Given the description of an element on the screen output the (x, y) to click on. 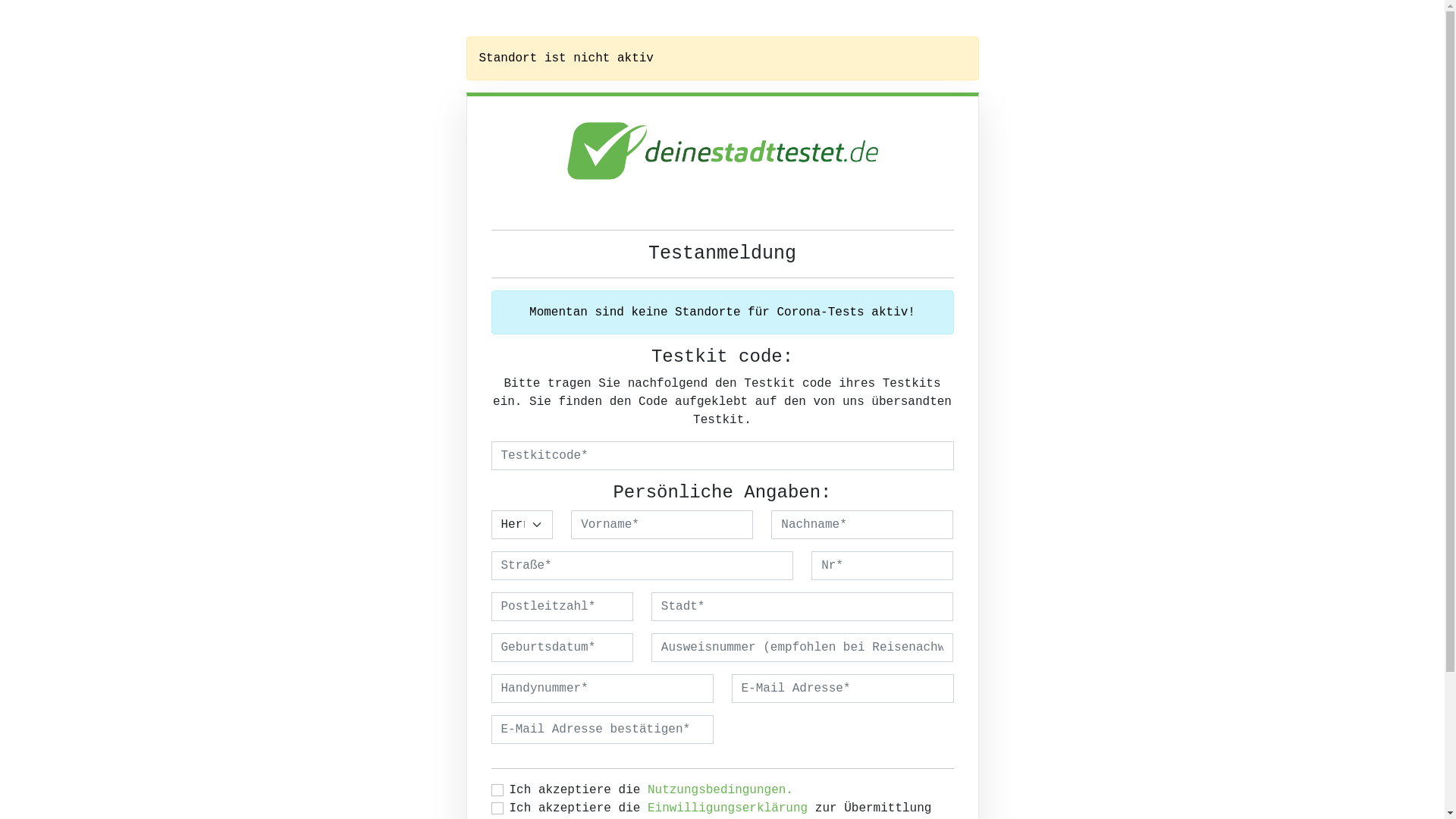
Nutzungsbedingungen. Element type: text (720, 790)
